Given the description of an element on the screen output the (x, y) to click on. 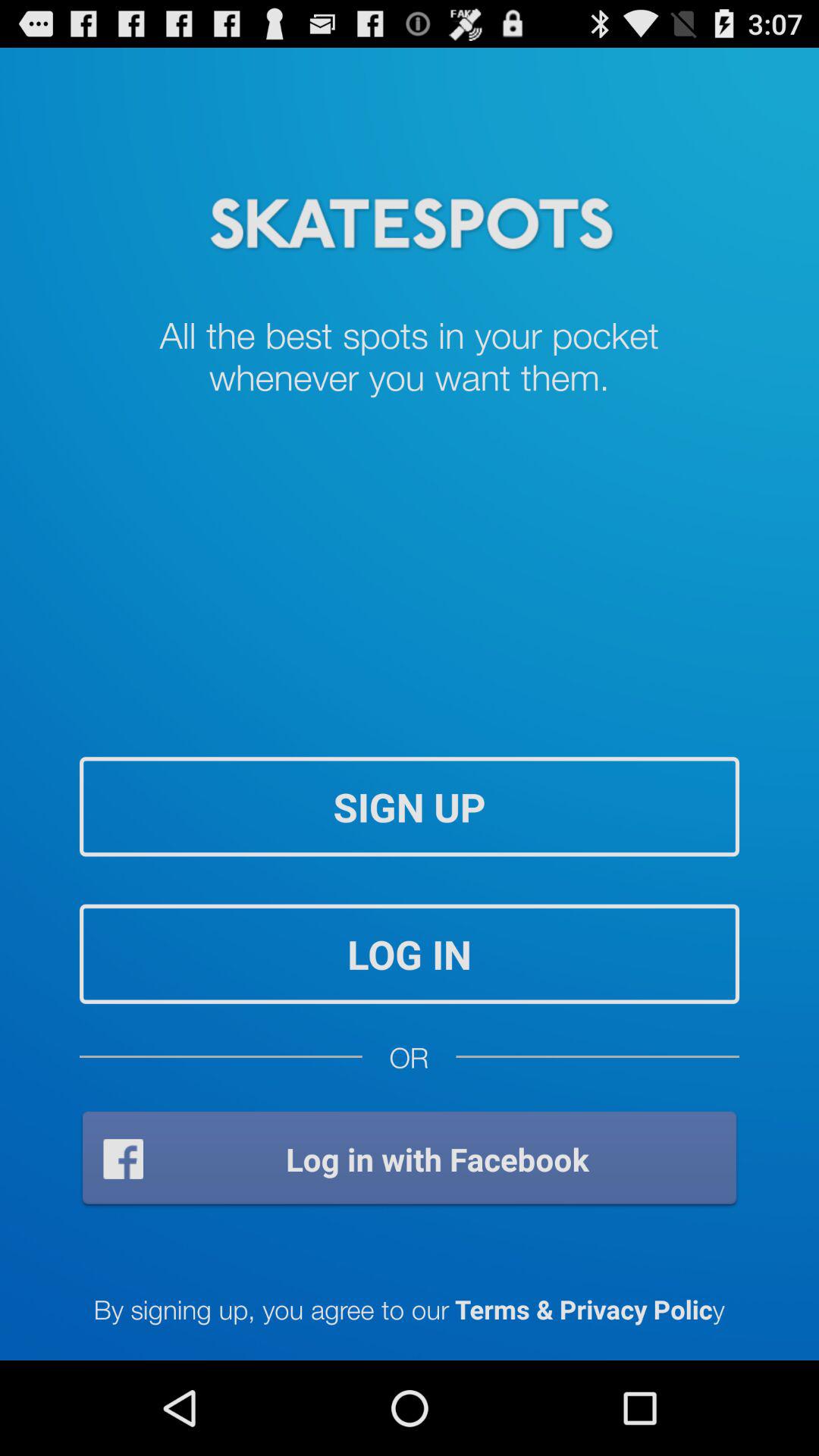
flip to sign up button (409, 806)
